Given the description of an element on the screen output the (x, y) to click on. 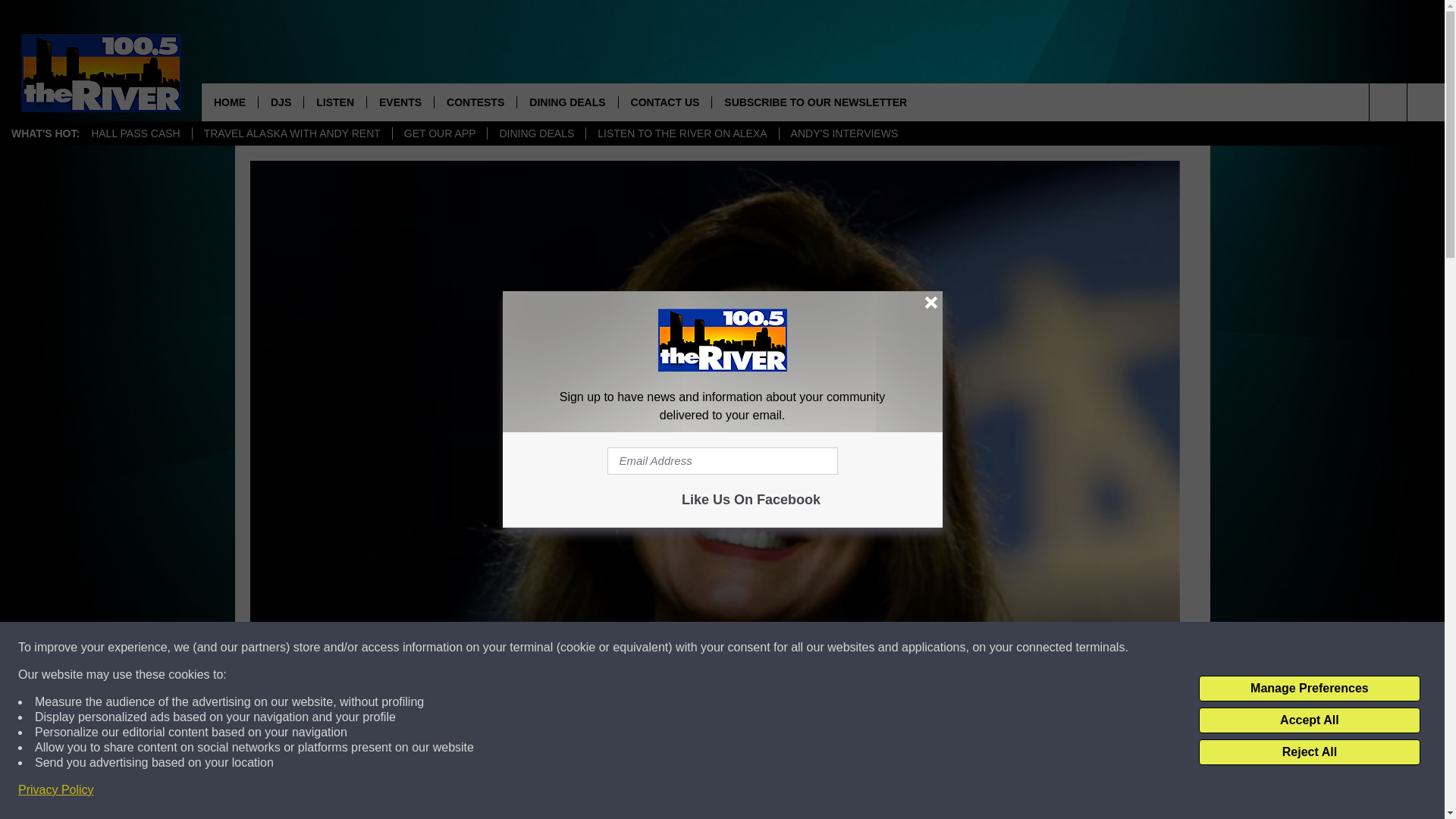
GET OUR APP (439, 133)
Share on Facebook (517, 791)
CONTESTS (474, 102)
Manage Preferences (1309, 688)
DJS (279, 102)
LISTEN (334, 102)
CONTACT US (664, 102)
Reject All (1309, 751)
ANDY'S INTERVIEWS (844, 133)
DINING DEALS (566, 102)
HALL PASS CASH (136, 133)
SUBSCRIBE TO OUR NEWSLETTER (814, 102)
Accept All (1309, 720)
EVENTS (399, 102)
DINING DEALS (535, 133)
